Given the description of an element on the screen output the (x, y) to click on. 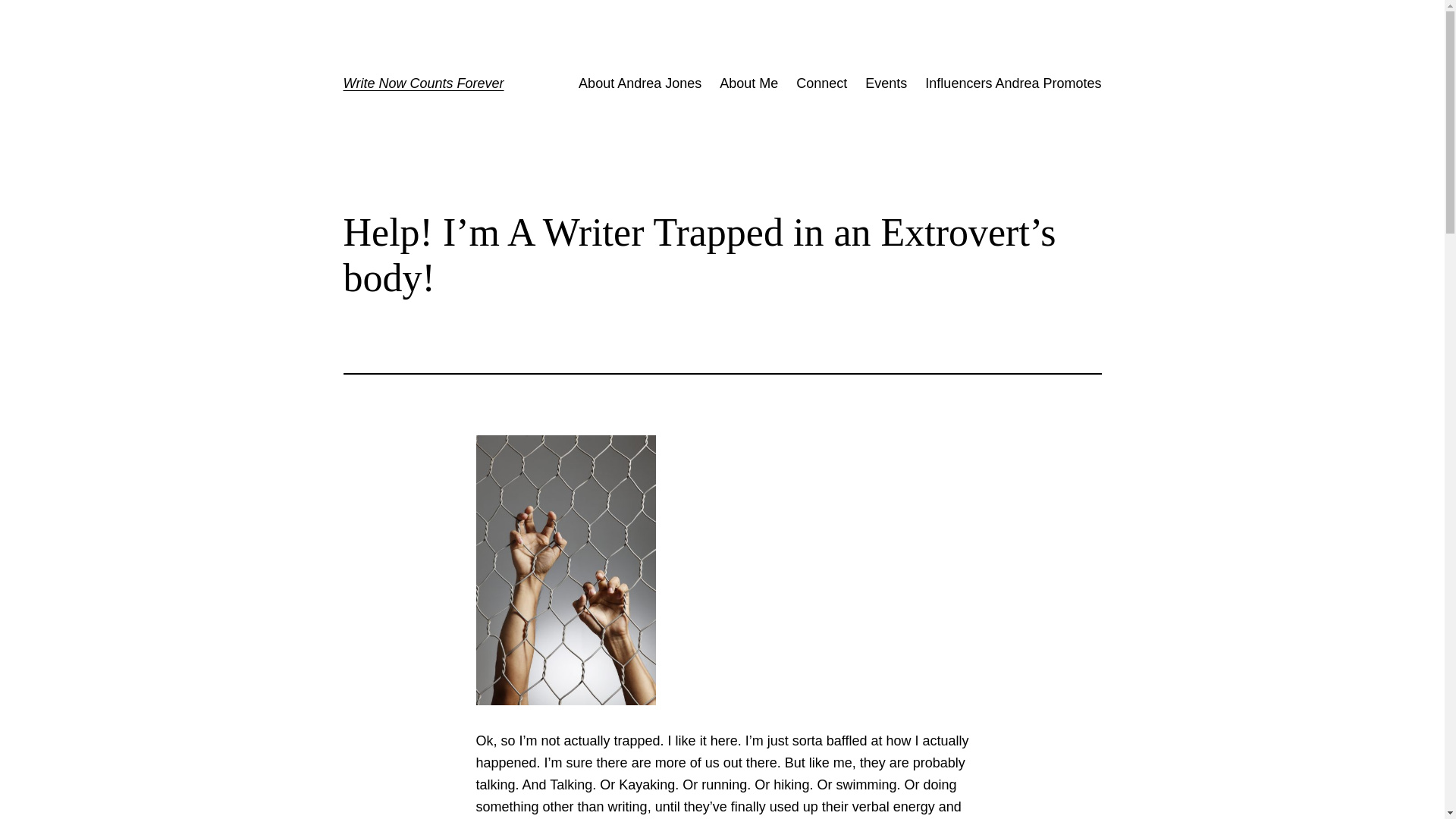
Connect (821, 83)
Influencers Andrea Promotes (1012, 83)
Write Now Counts Forever (422, 83)
Events (885, 83)
About Andrea Jones (639, 83)
About Me (748, 83)
